Given the description of an element on the screen output the (x, y) to click on. 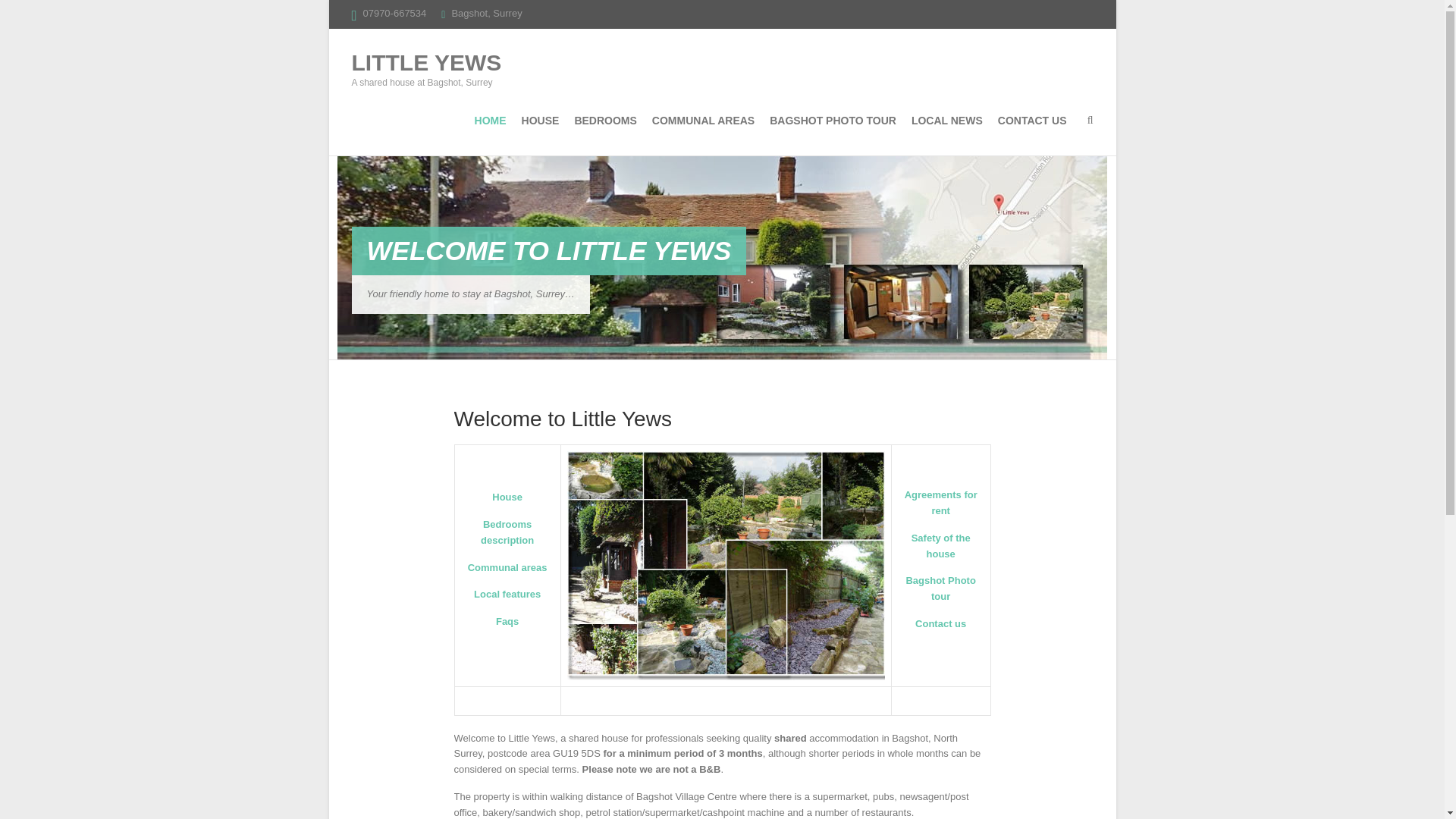
BEDROOMS (604, 120)
LITTLE YEWS (427, 61)
07970-667534 (394, 12)
Faqs (507, 621)
 Call Us  (394, 12)
Welcome to Little Yews (721, 163)
Welcome to Little Yews (549, 250)
COMMUNAL AREAS (703, 120)
Little Yews (427, 61)
